Given the description of an element on the screen output the (x, y) to click on. 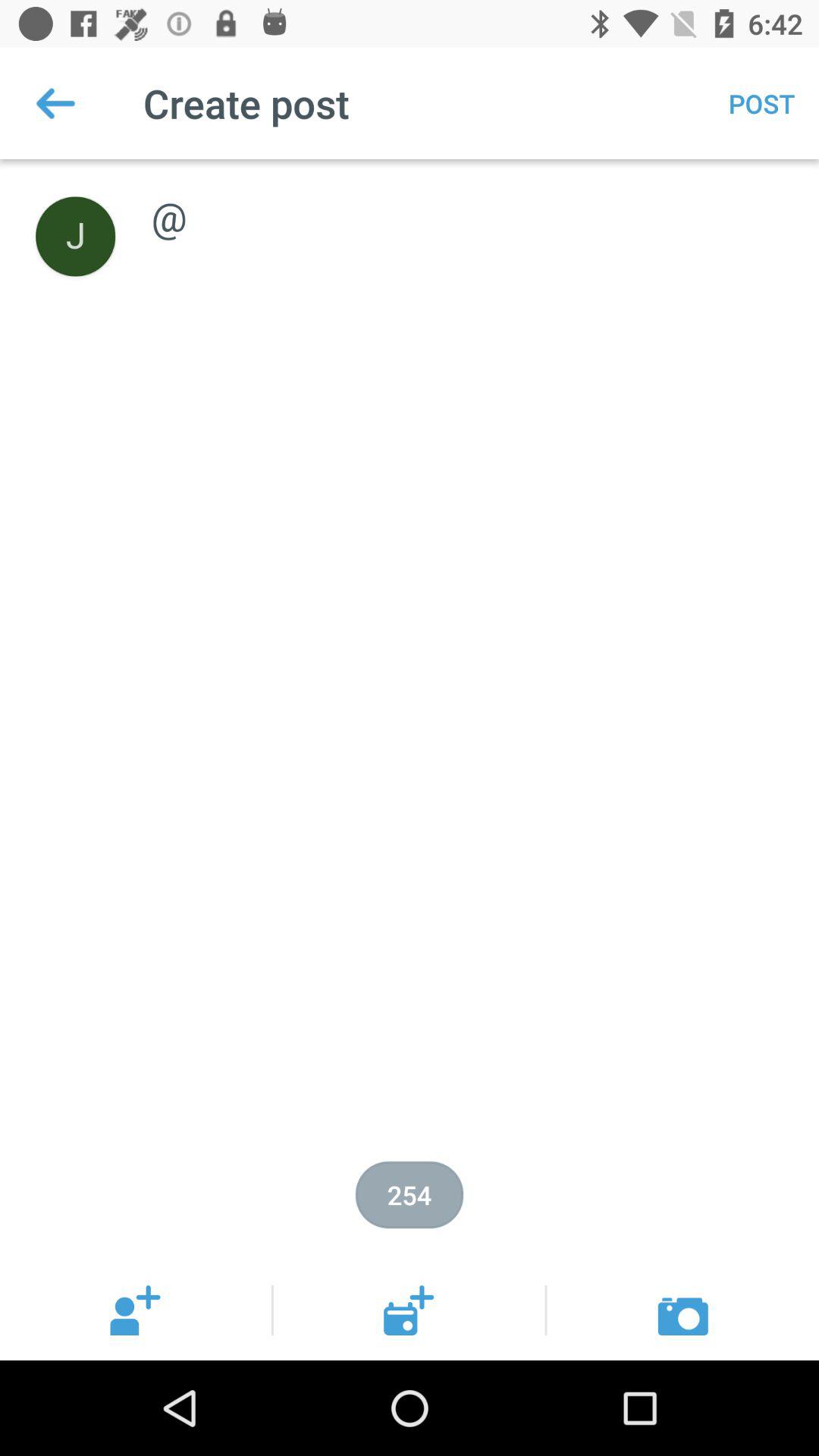
tap the icon to the left of the create post item (55, 103)
